Given the description of an element on the screen output the (x, y) to click on. 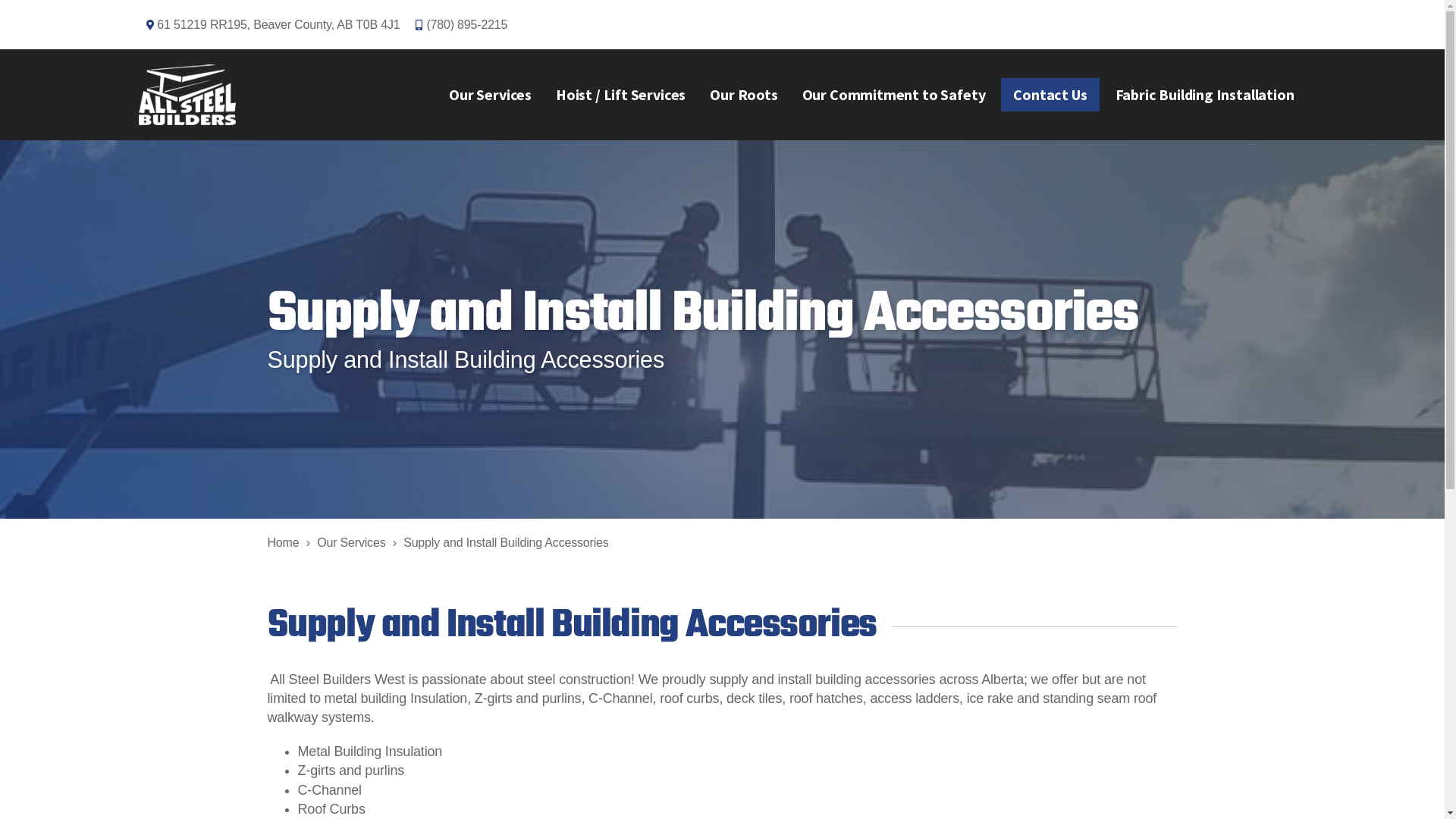
Our Roots Element type: text (743, 94)
Our Services Element type: text (489, 94)
Our Services Element type: text (350, 542)
Supply and Install Building Accessories Element type: text (505, 542)
Our Commitment to Safety Element type: text (893, 94)
61 51219 RR195, Beaver County, AB T0B 4J1 Element type: text (272, 24)
Fabric Building Installation Element type: text (1204, 94)
(780) 895-2215 Element type: text (461, 24)
Hoist / Lift Services Element type: text (620, 94)
Home Element type: text (282, 542)
Contact Us Element type: text (1049, 94)
